Given the description of an element on the screen output the (x, y) to click on. 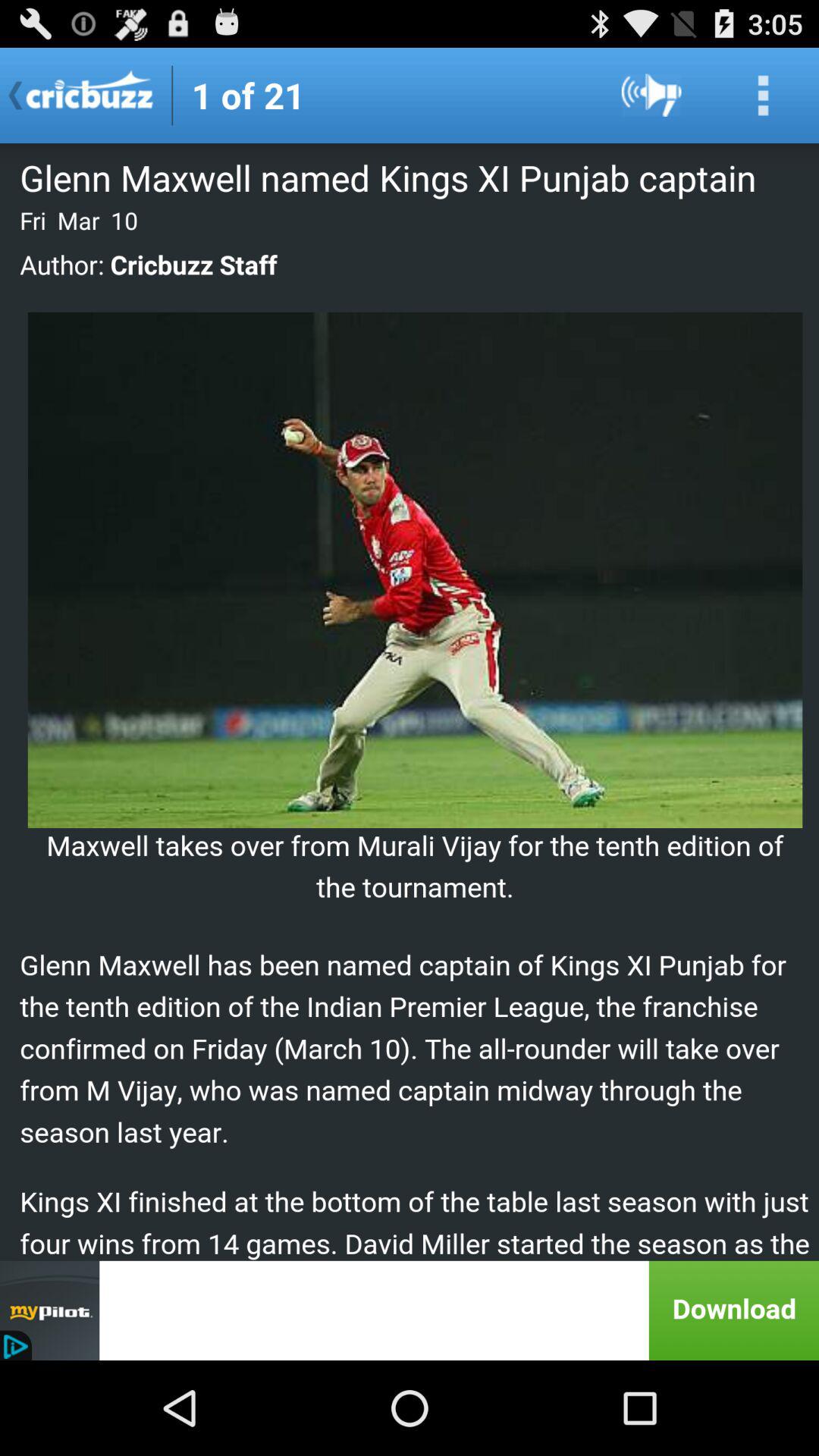
speaker (651, 95)
